Given the description of an element on the screen output the (x, y) to click on. 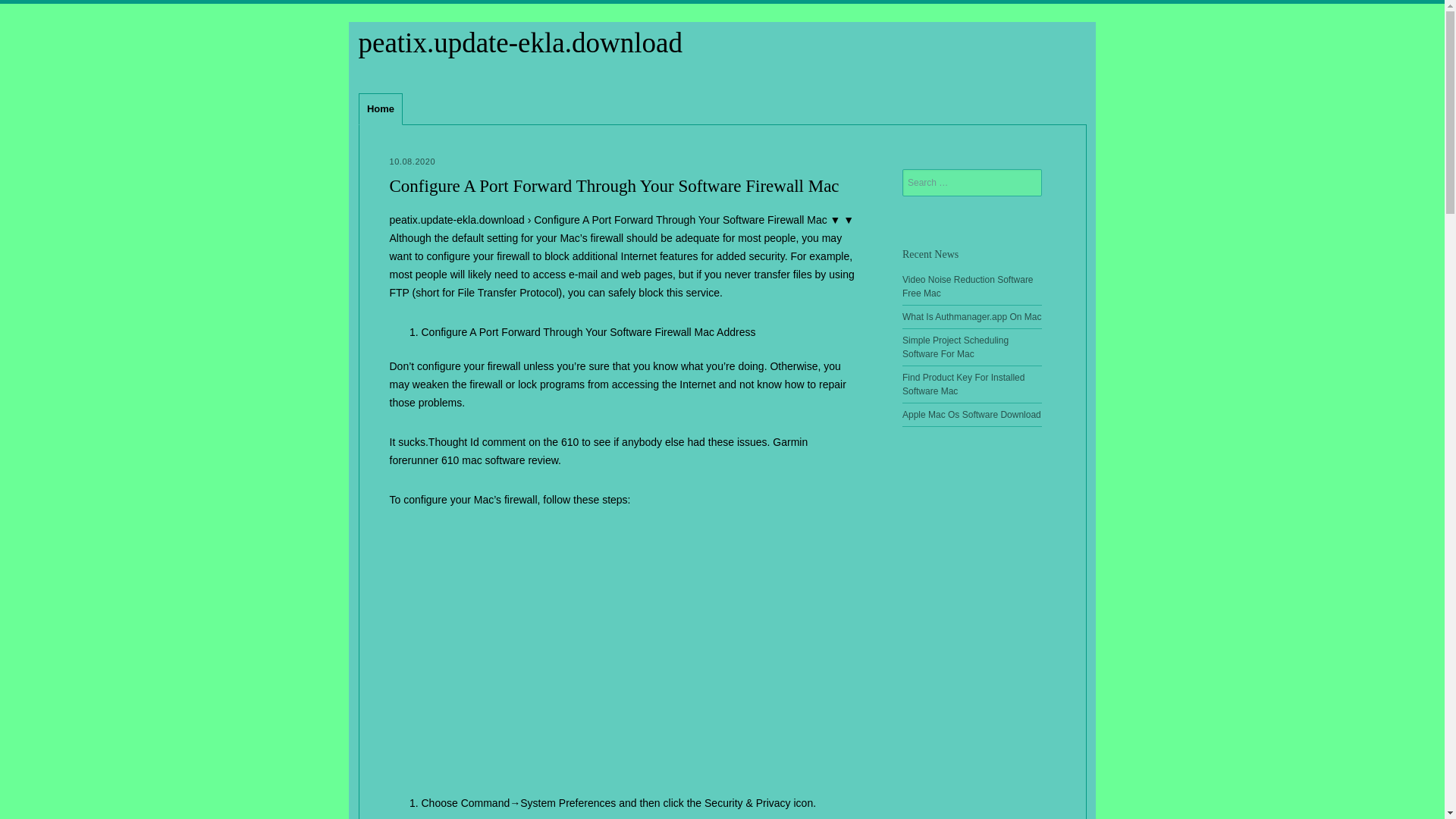
peatix.update-ekla.download (519, 42)
peatix.update-ekla.download (519, 42)
Simple Project Scheduling Software For Mac (955, 346)
Apple Mac Os Software Download (971, 414)
Find Product Key For Installed Software Mac (963, 384)
Home (380, 109)
peatix.update-ekla.download (457, 219)
mac (471, 460)
Search (19, 8)
